Given the description of an element on the screen output the (x, y) to click on. 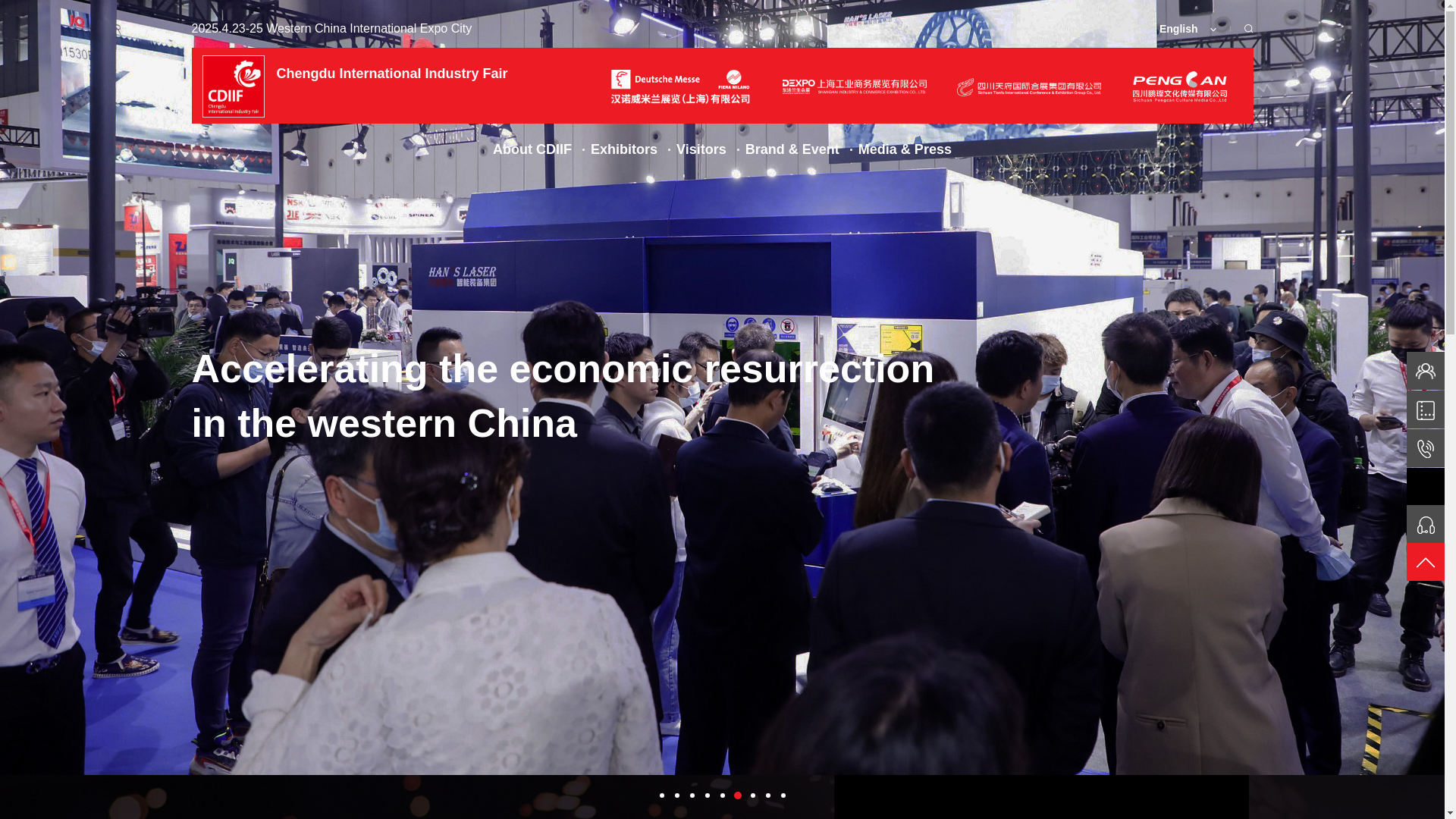
About CDIIF (531, 149)
Exhibitors (624, 149)
English (1187, 28)
Visitors (700, 149)
